Given the description of an element on the screen output the (x, y) to click on. 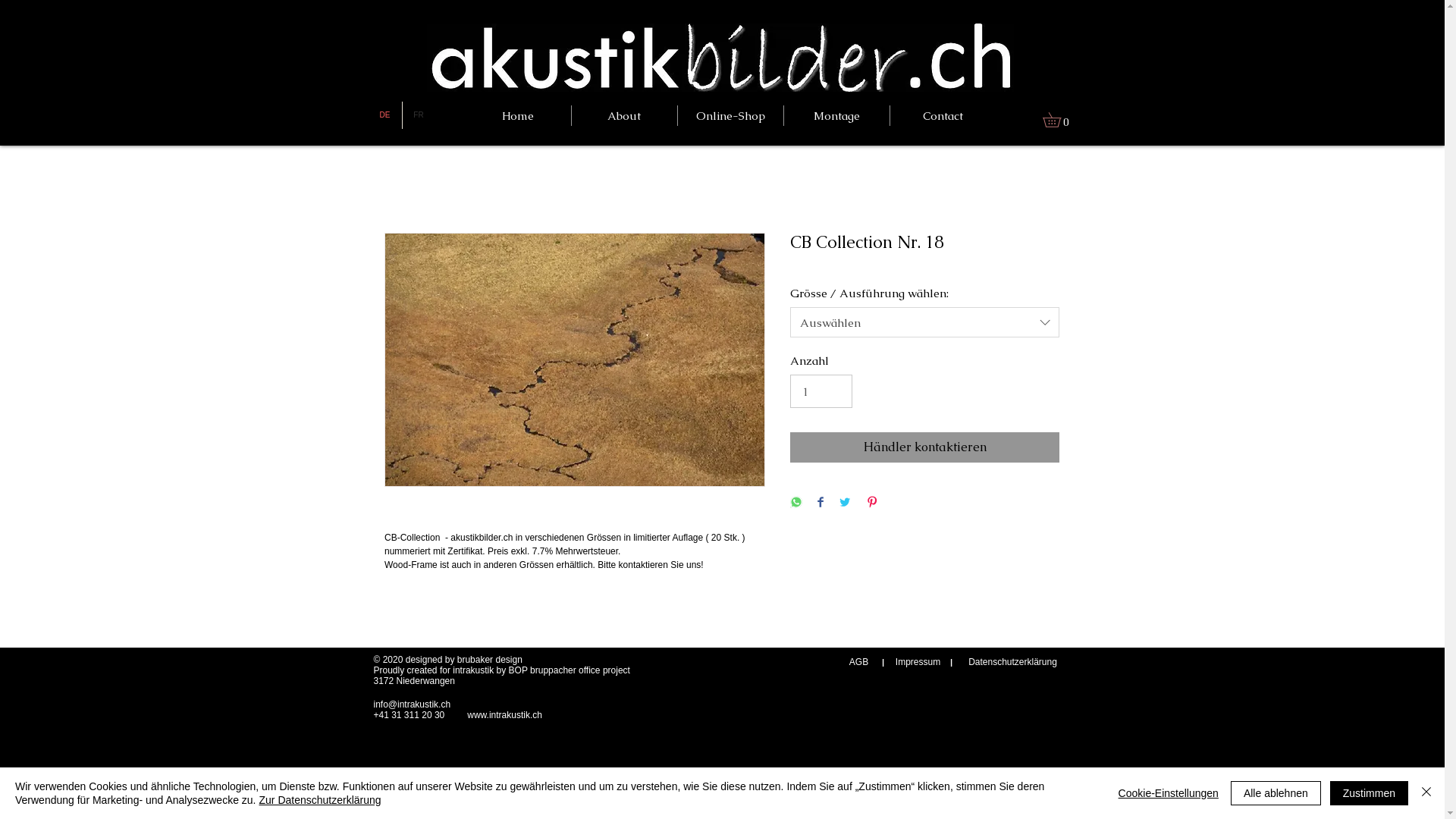
Impressum Element type: text (917, 662)
Alle ablehnen Element type: text (1275, 793)
Montage Element type: text (836, 115)
About Element type: text (624, 115)
AGB Element type: text (858, 662)
info@intrakustik.ch Element type: text (411, 704)
DE Element type: text (384, 114)
www.intrakustik.ch Element type: text (504, 714)
Contact Element type: text (942, 115)
Home Element type: text (517, 115)
Online-Shop Element type: text (730, 115)
0 Element type: text (1057, 119)
Zustimmen Element type: text (1369, 793)
FR Element type: text (418, 114)
